Given the description of an element on the screen output the (x, y) to click on. 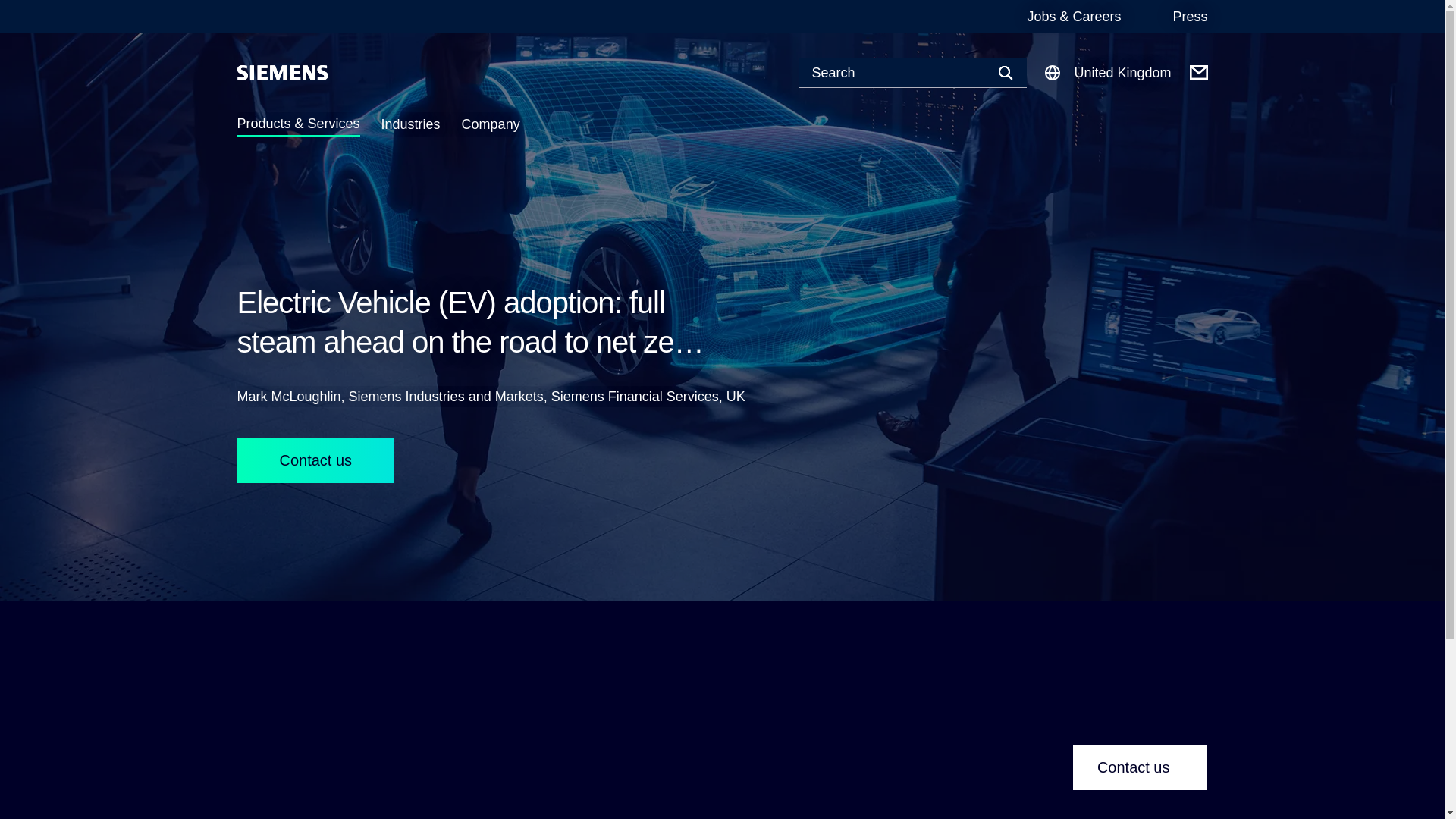
search (8, 9)
Contact us (1139, 766)
Industries (411, 124)
Press (1189, 16)
Company (490, 124)
Siemens (281, 72)
United Kingdom (1107, 72)
Contact us (314, 460)
